Given the description of an element on the screen output the (x, y) to click on. 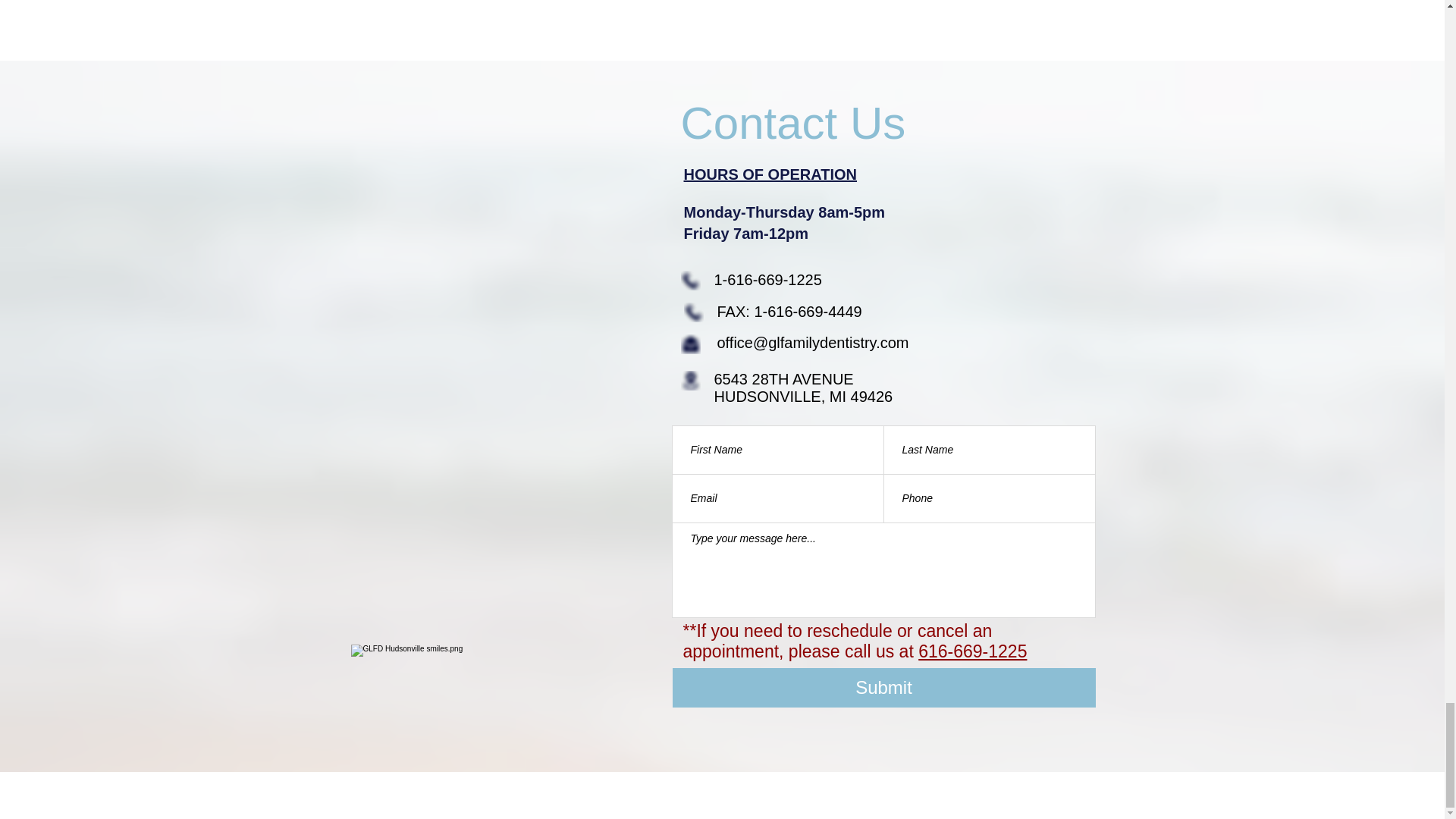
HOURS OF OPERATION (770, 174)
